Given the description of an element on the screen output the (x, y) to click on. 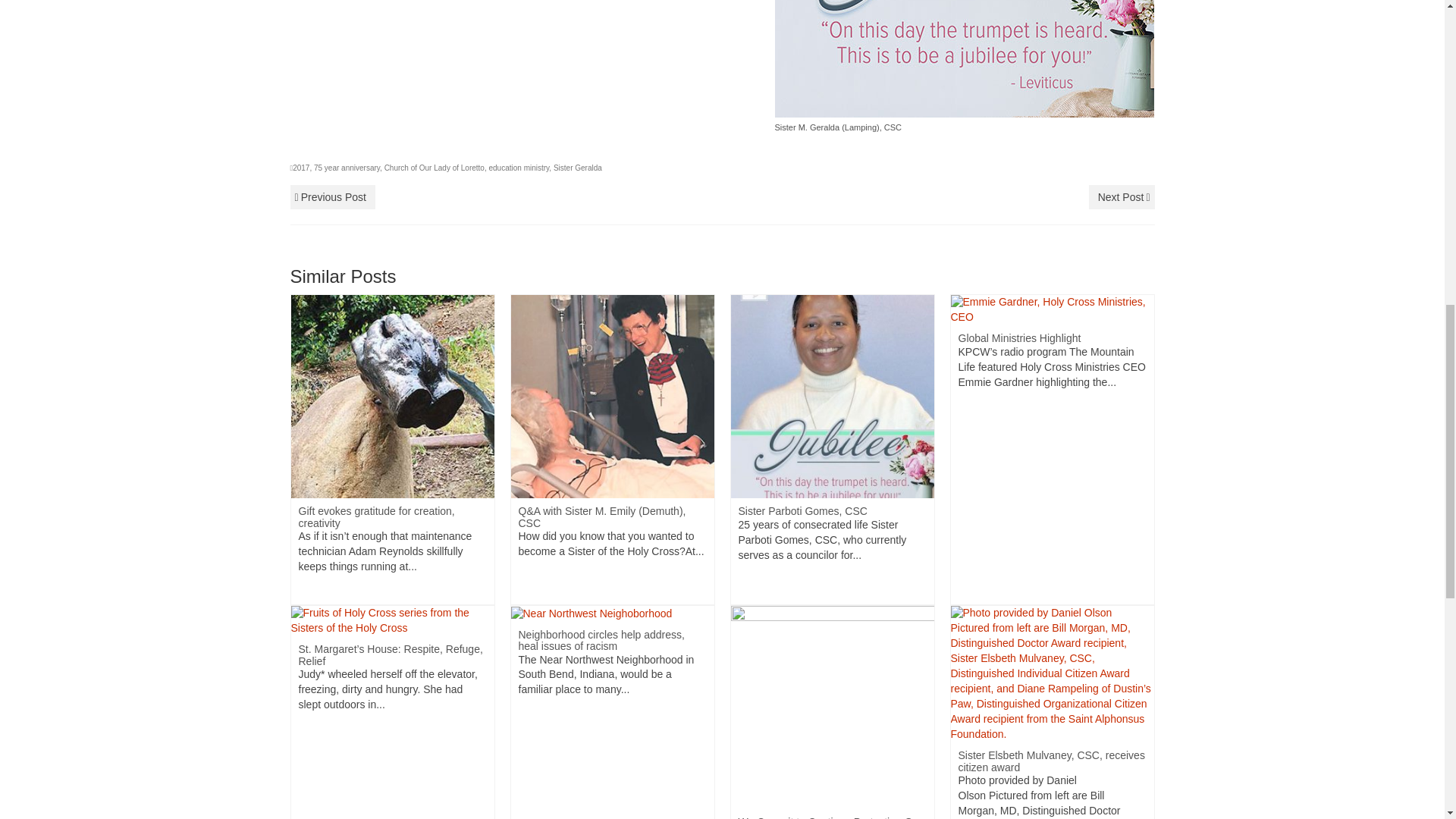
Sister Parboti Gomes, CSC (832, 395)
Neighborhood circles help address, heal issues of racism (591, 612)
Global Ministries Highlight (1052, 309)
Sister Elsbeth Mulvaney, CSC, receives citizen award (1052, 673)
We Commit to Continue Protesting Gun Violence (832, 706)
Gift evokes gratitude for creation, creativity (393, 395)
